Given the description of an element on the screen output the (x, y) to click on. 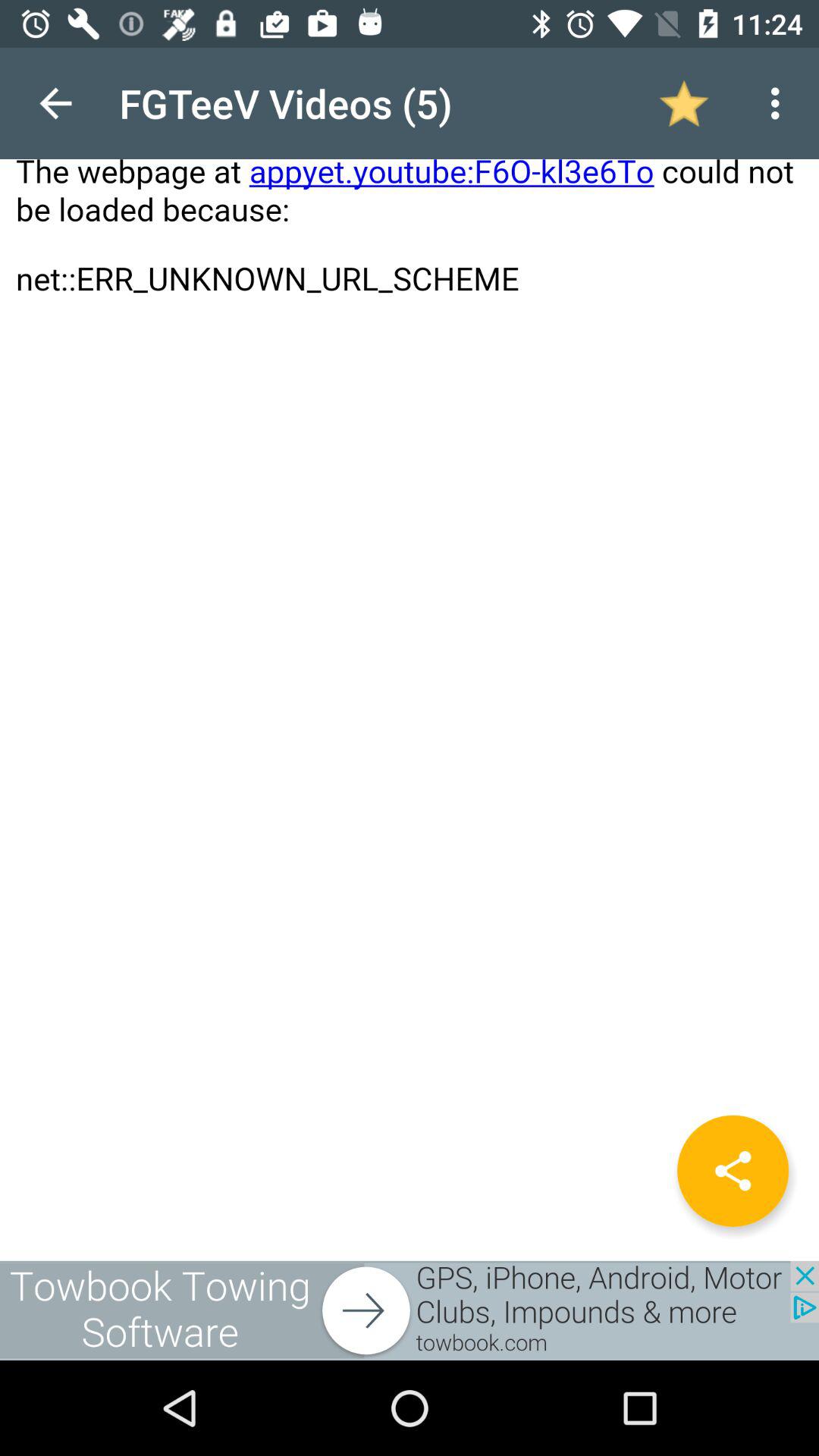
open advertisement page (409, 1310)
